Given the description of an element on the screen output the (x, y) to click on. 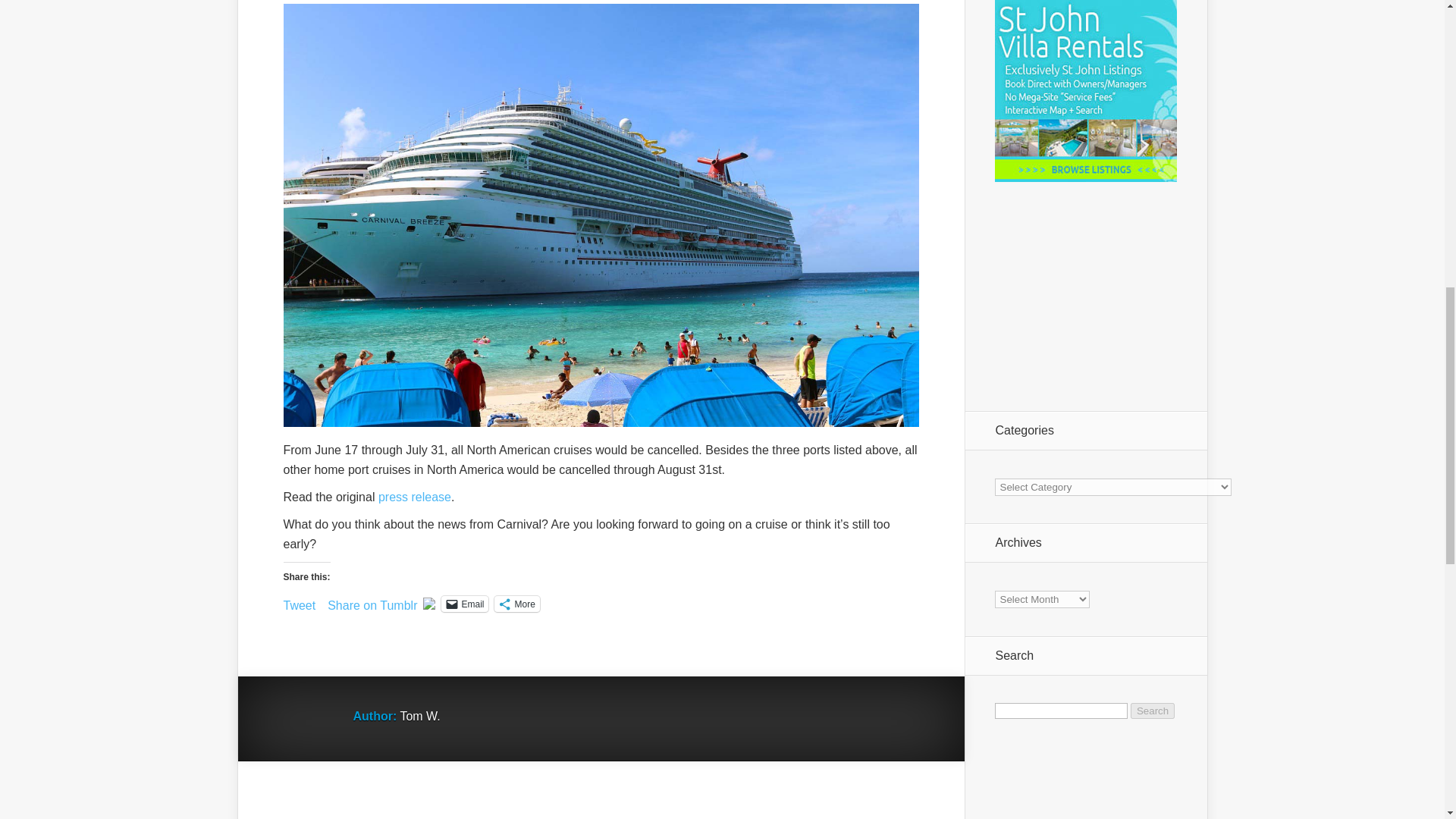
More (516, 603)
Search (1152, 710)
press release (414, 496)
Share on Tumblr (371, 602)
Click to email a link to a friend (464, 603)
Email (464, 603)
Tweet (299, 602)
Share on Tumblr (371, 602)
